Given the description of an element on the screen output the (x, y) to click on. 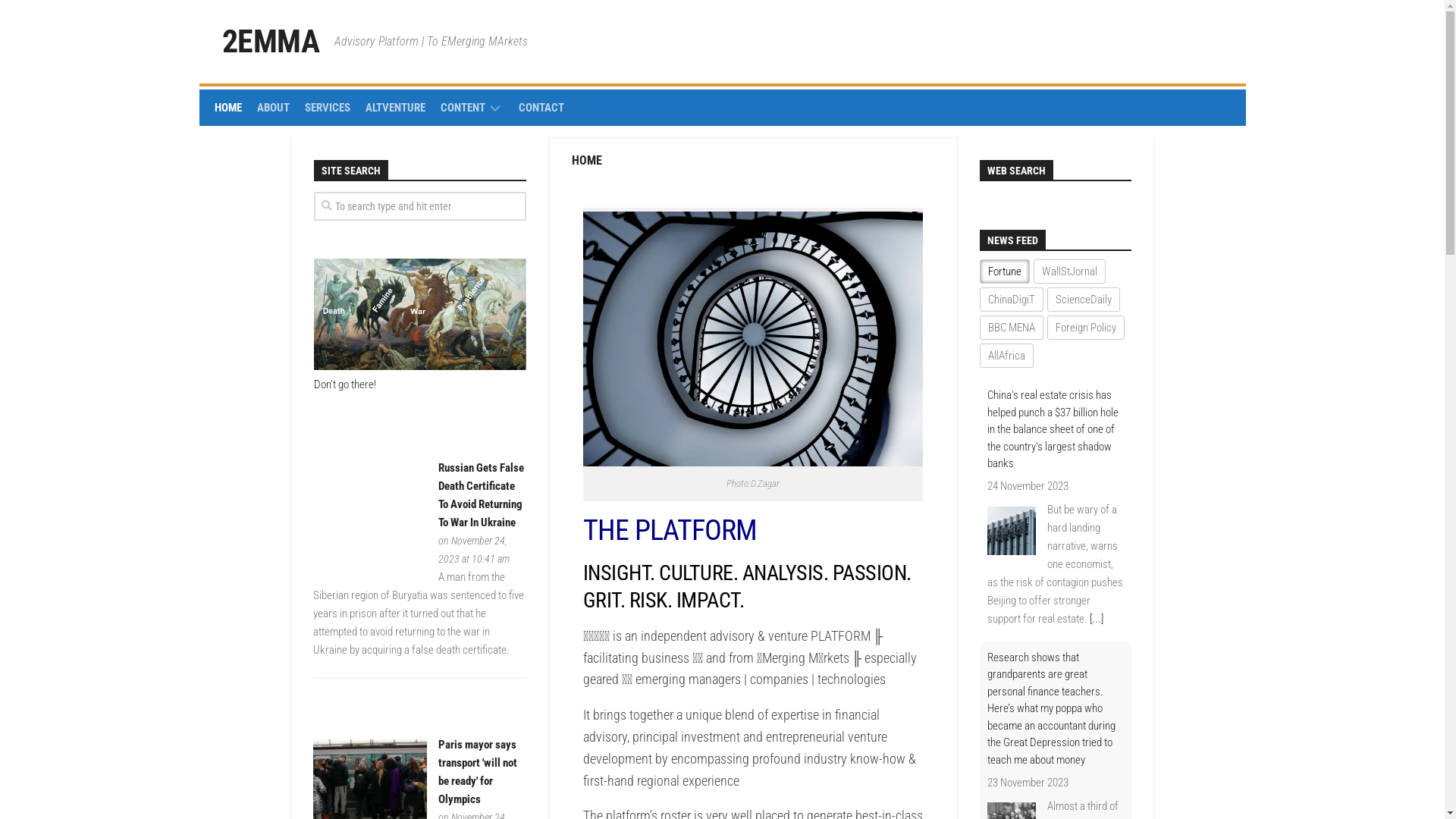
CONTENT Element type: text (461, 107)
[...] Element type: text (1095, 618)
ALTVENTURE Element type: text (395, 107)
HOME Element type: text (227, 107)
Paris mayor says transport 'will not be ready' for Olympics Element type: text (477, 771)
CONTACT Element type: text (541, 107)
Don't go there! Element type: text (344, 384)
ABOUT Element type: text (272, 107)
2EMMA Element type: text (270, 41)
SERVICES Element type: text (327, 107)
